Given the description of an element on the screen output the (x, y) to click on. 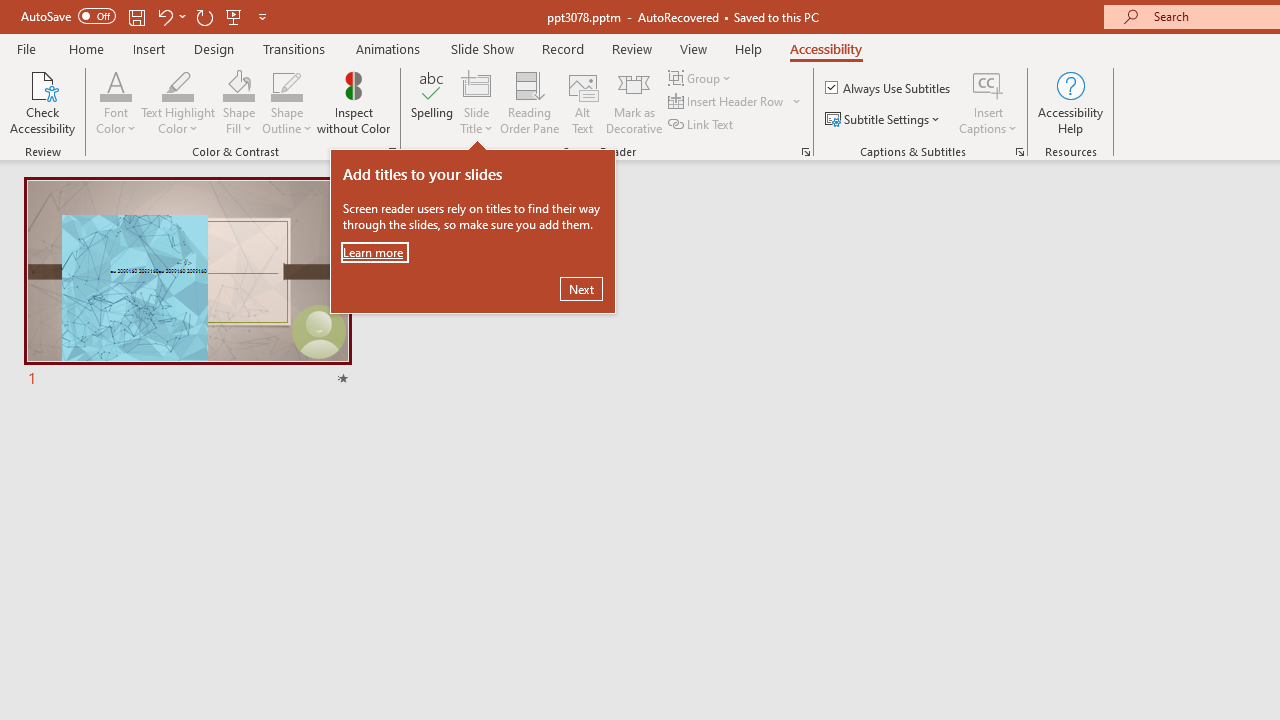
Slide Title (476, 102)
Insert Header Row (735, 101)
Link Text (702, 124)
Always Use Subtitles (889, 87)
Next (581, 288)
